Given the description of an element on the screen output the (x, y) to click on. 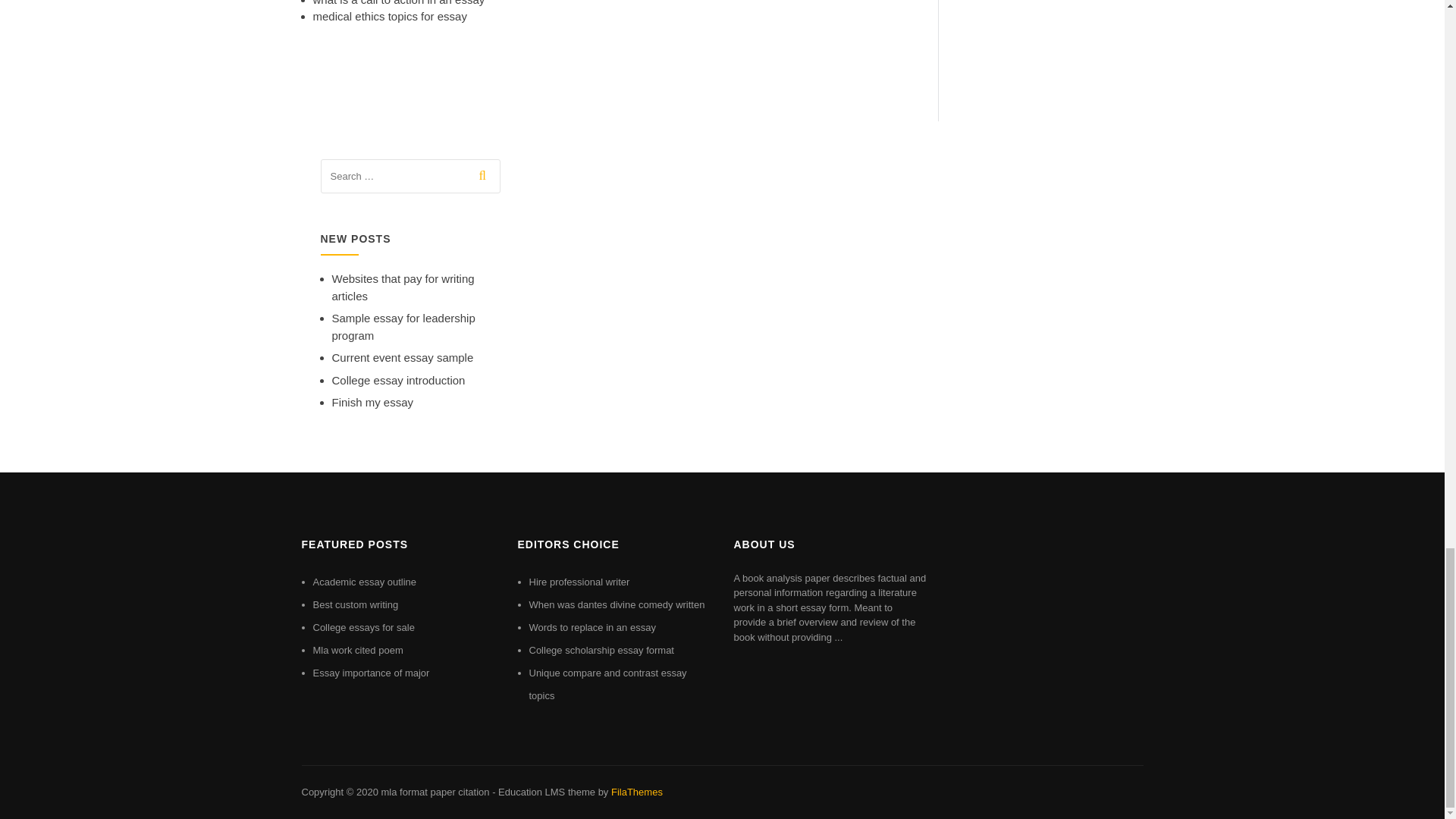
Words to replace in an essay (592, 627)
Essay importance of major (371, 672)
Mla work cited poem (358, 650)
Sample essay for leadership program (403, 327)
When was dantes divine comedy written (616, 604)
Academic essay outline (364, 582)
College essays for sale (363, 627)
Websites that pay for writing articles (402, 286)
Hire professional writer (579, 582)
College scholarship essay format (601, 650)
